Given the description of an element on the screen output the (x, y) to click on. 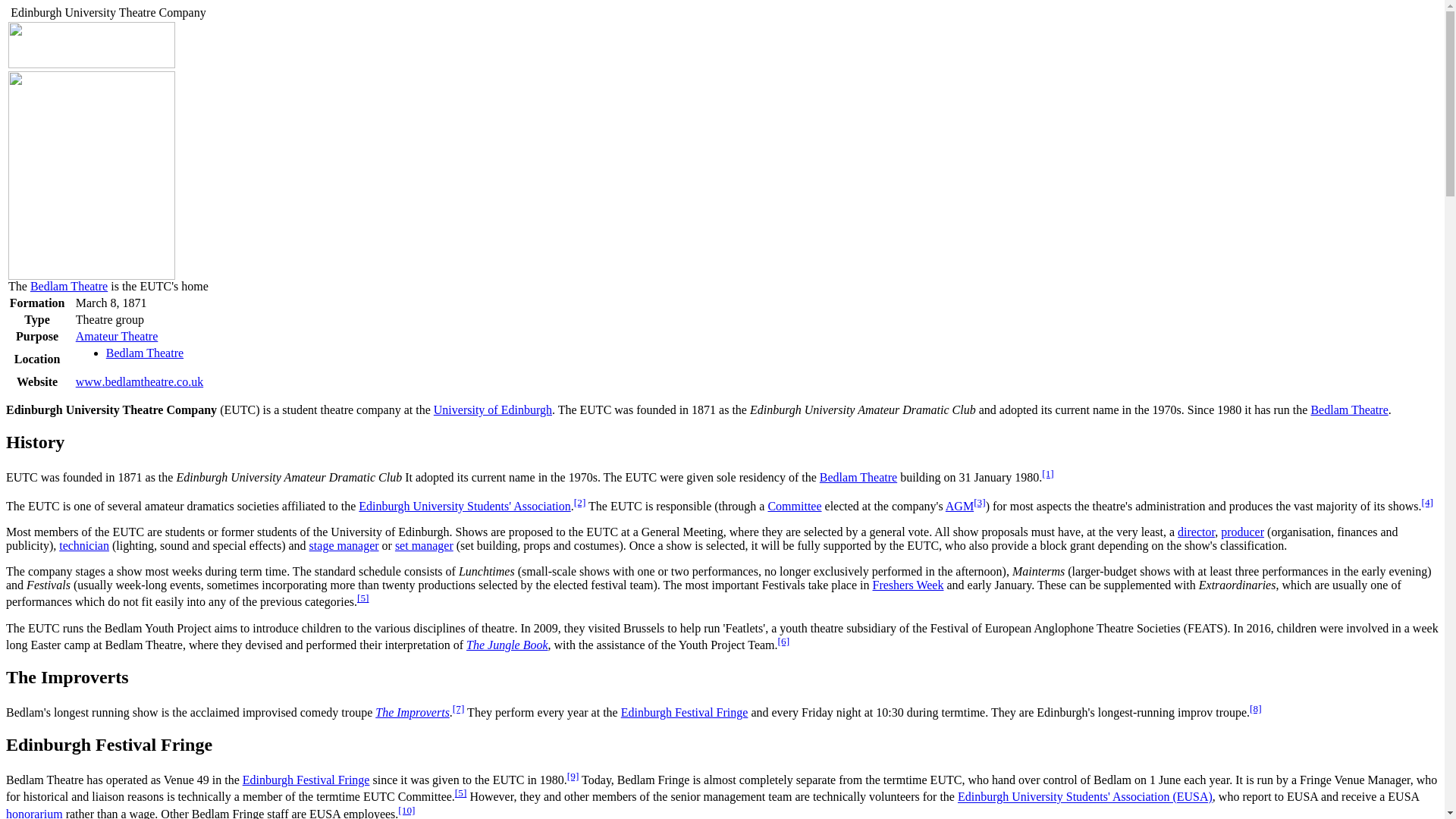
Bedlam Theatre (144, 352)
Annual general meeting (959, 505)
director (1195, 531)
The Jungle Book (506, 644)
Edinburgh amateur theatre (116, 336)
Freshers Week (907, 584)
AGM (959, 505)
University of Edinburgh (492, 409)
Committee (794, 505)
Amateur Theatre (116, 336)
Bedlam Theatre (1348, 409)
technician (84, 545)
Edinburgh University Students' Association (464, 505)
Improverts (412, 712)
Bedlam Theatre (857, 477)
